Given the description of an element on the screen output the (x, y) to click on. 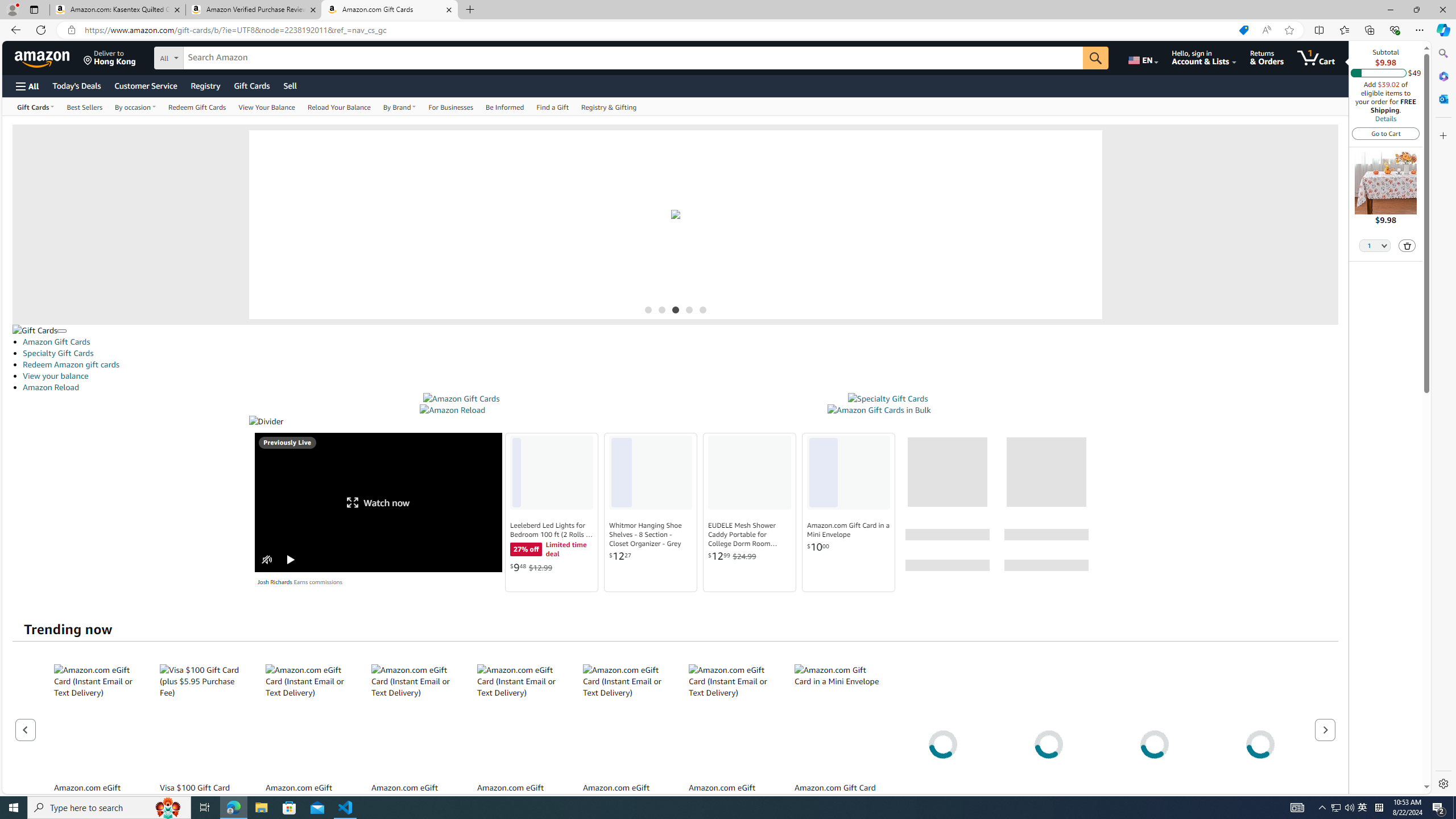
Find a Gift (552, 106)
Today's Deals (76, 85)
Gift Cards (251, 85)
Amazon Gift Cards in Bulk (878, 410)
View your balance (55, 375)
Next page (1324, 729)
Search Amazon (633, 57)
Toggle Navigation (61, 331)
View your balance (680, 375)
For Businesses (451, 106)
